Given the description of an element on the screen output the (x, y) to click on. 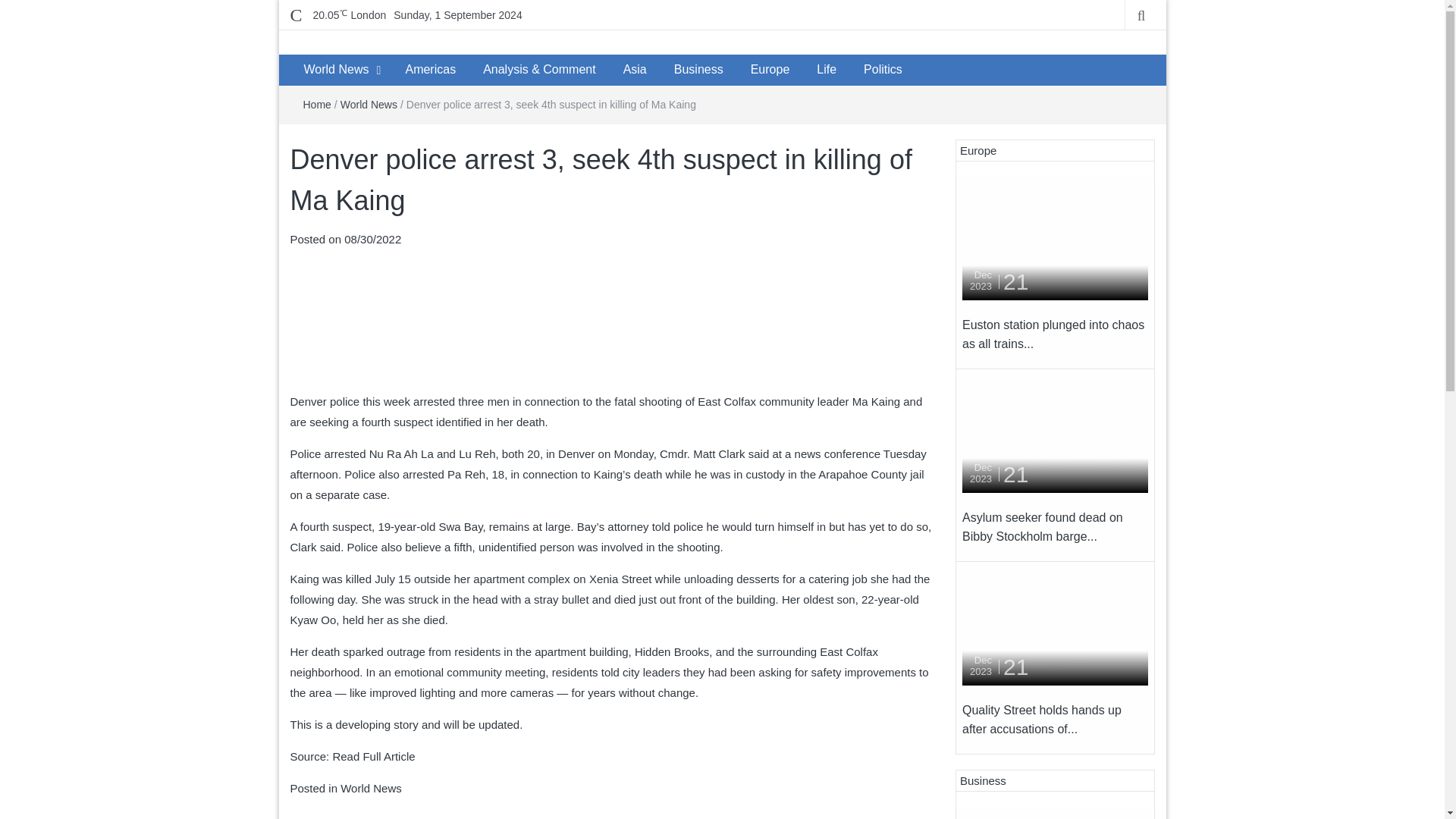
Business (698, 69)
Americas (429, 69)
Euston station plunged into chaos as all trains cancelled (1055, 241)
Home (316, 104)
Clear (349, 14)
World News (368, 104)
World News (370, 788)
Politics (882, 69)
